Given the description of an element on the screen output the (x, y) to click on. 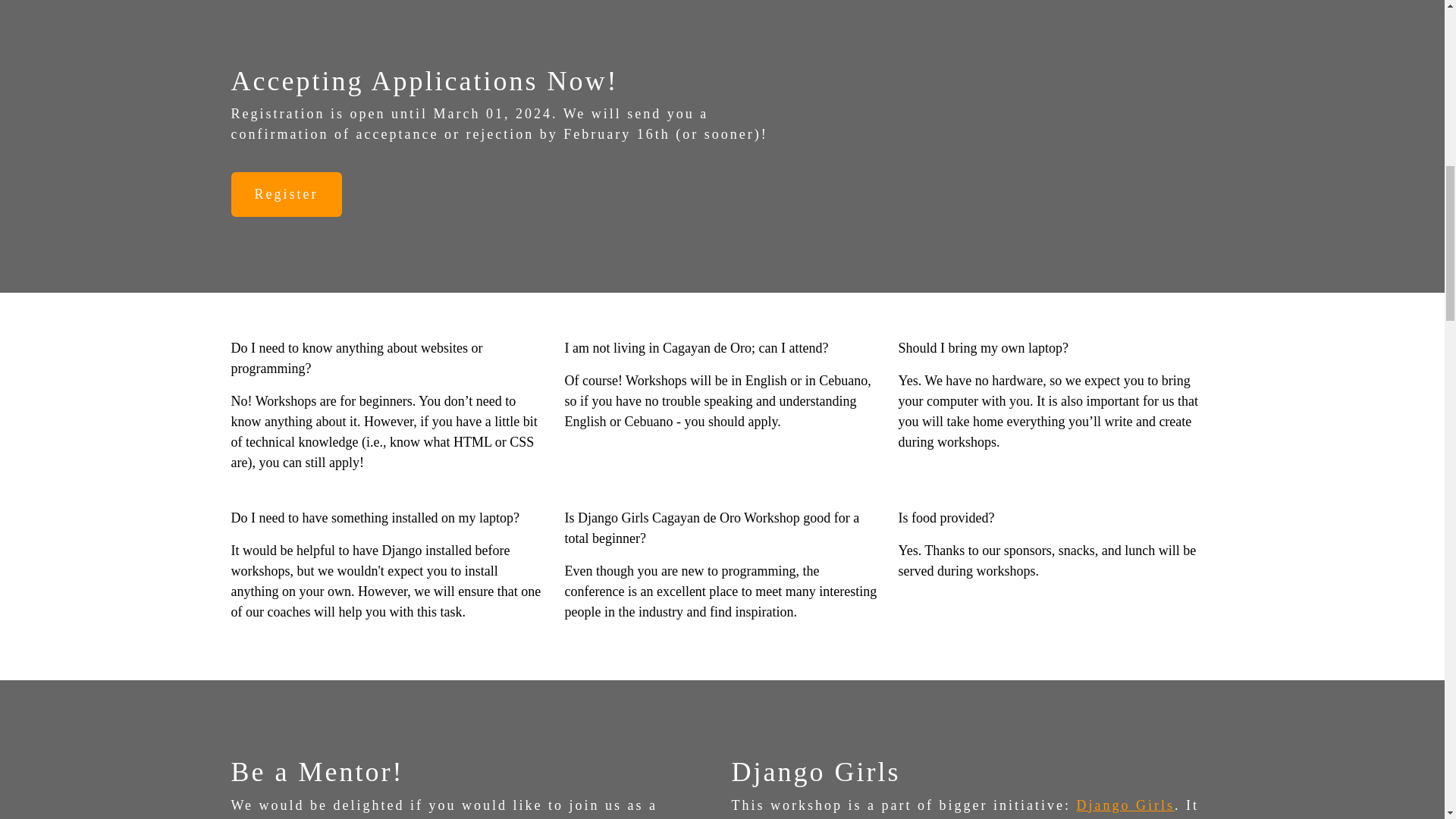
Register (285, 194)
Django Girls (1124, 805)
